Given the description of an element on the screen output the (x, y) to click on. 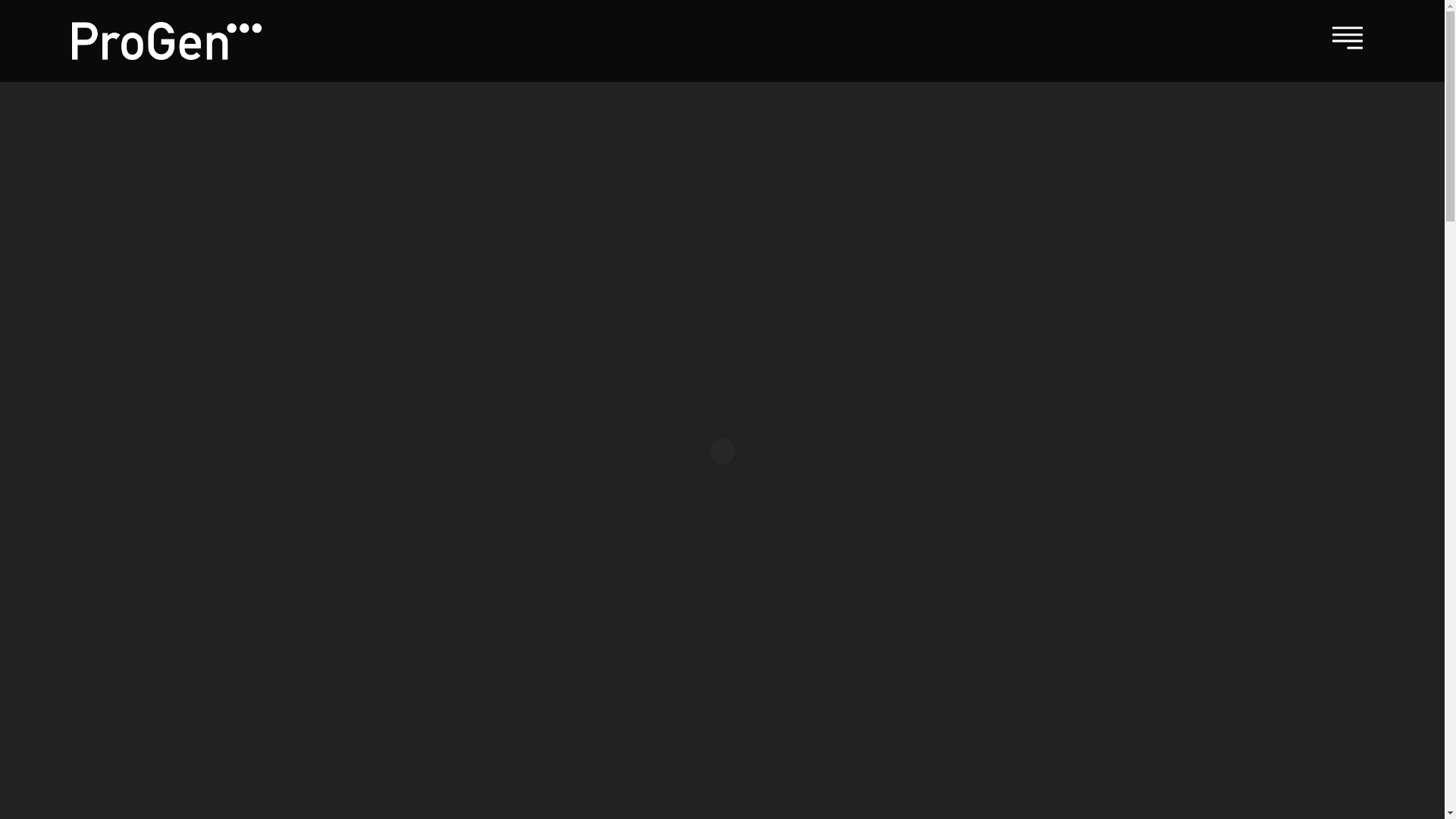
ProGen - MEP services nationwide across many sectors (166, 40)
